Given the description of an element on the screen output the (x, y) to click on. 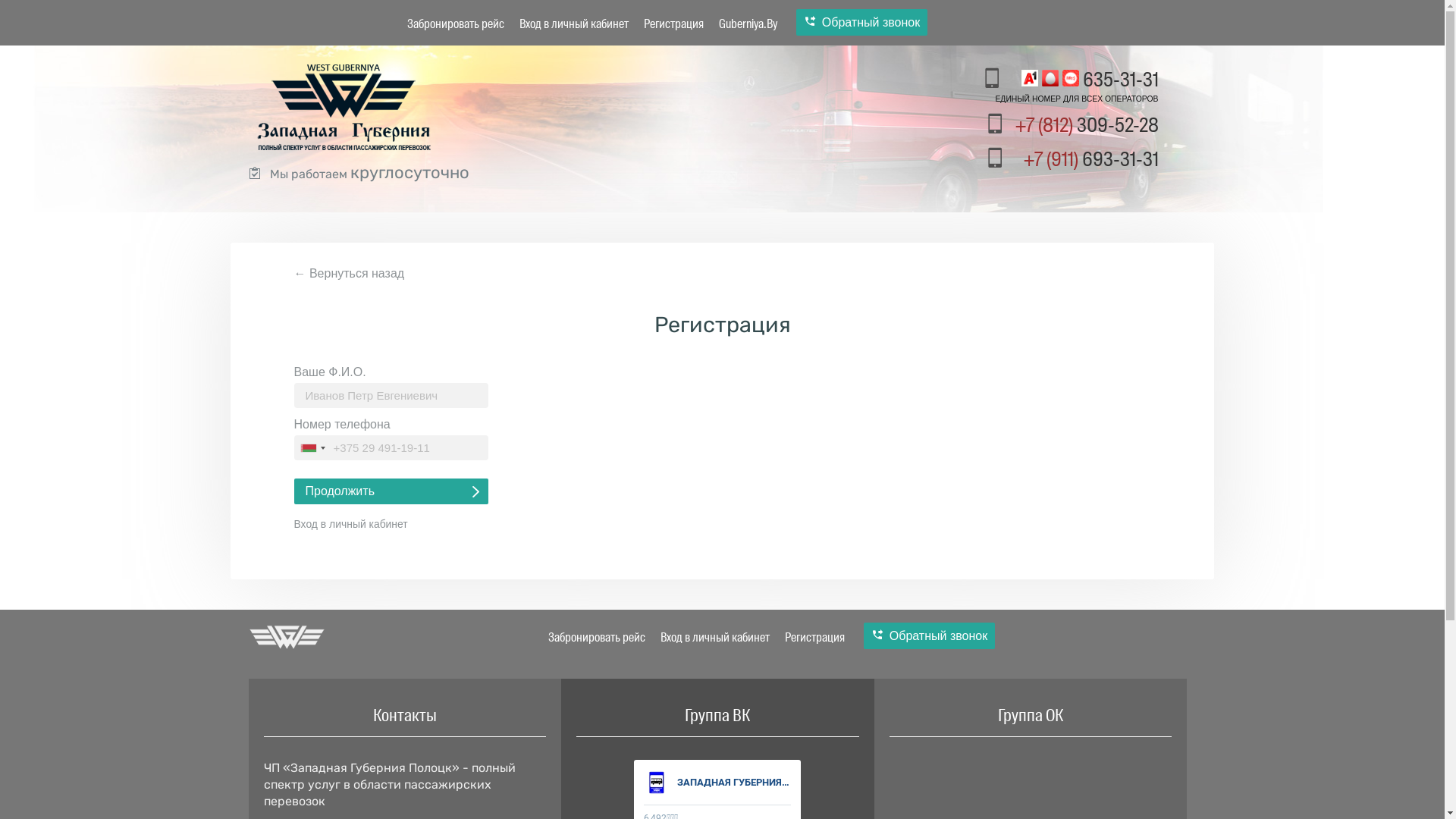
Guberniya.By Element type: text (747, 23)
